Given the description of an element on the screen output the (x, y) to click on. 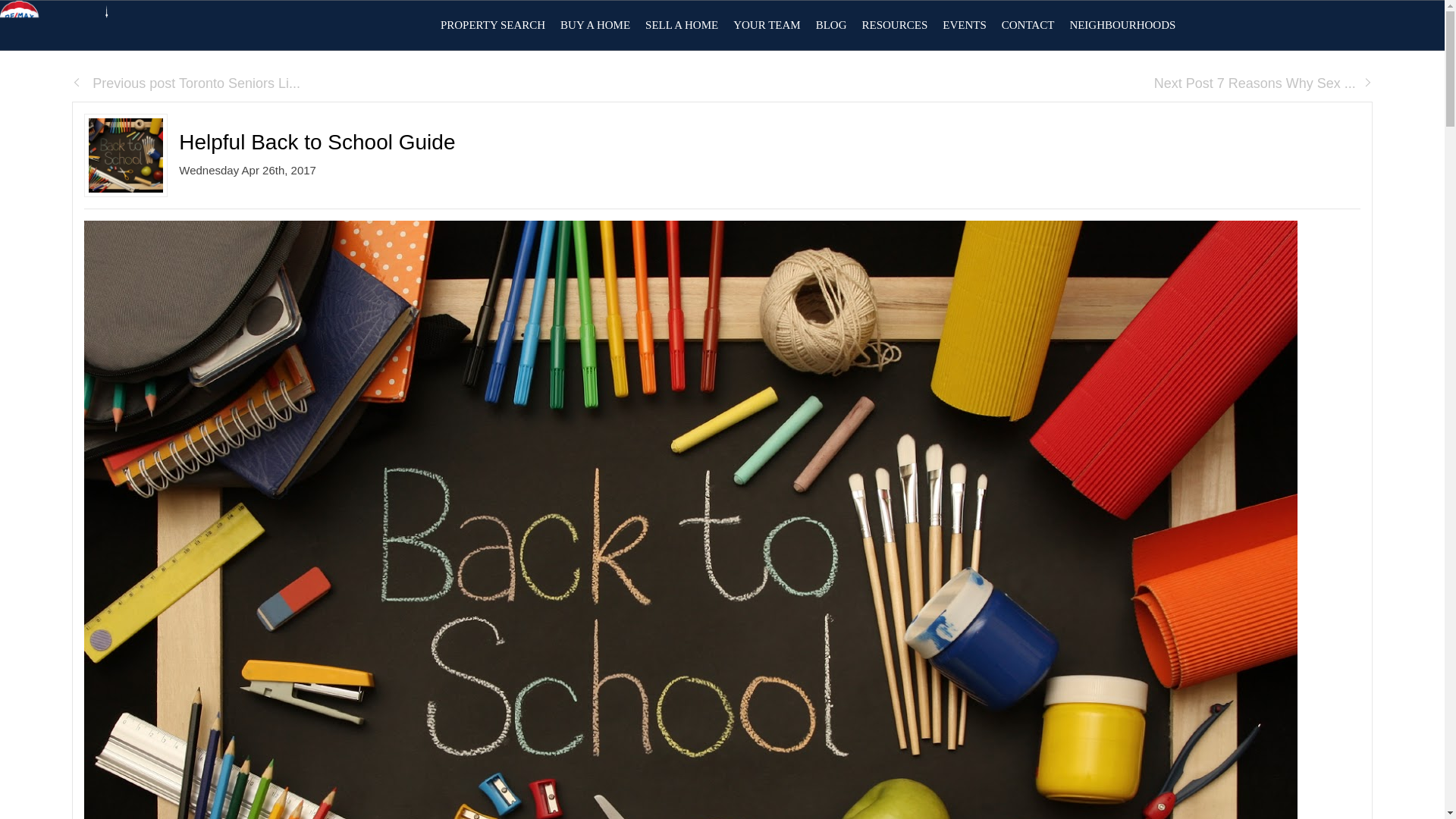
PROPERTY SEARCH (492, 24)
Sell a Home (681, 24)
Property Search (492, 24)
Buy a Home (595, 24)
BLOG (831, 24)
EVENTS (964, 24)
